Given the description of an element on the screen output the (x, y) to click on. 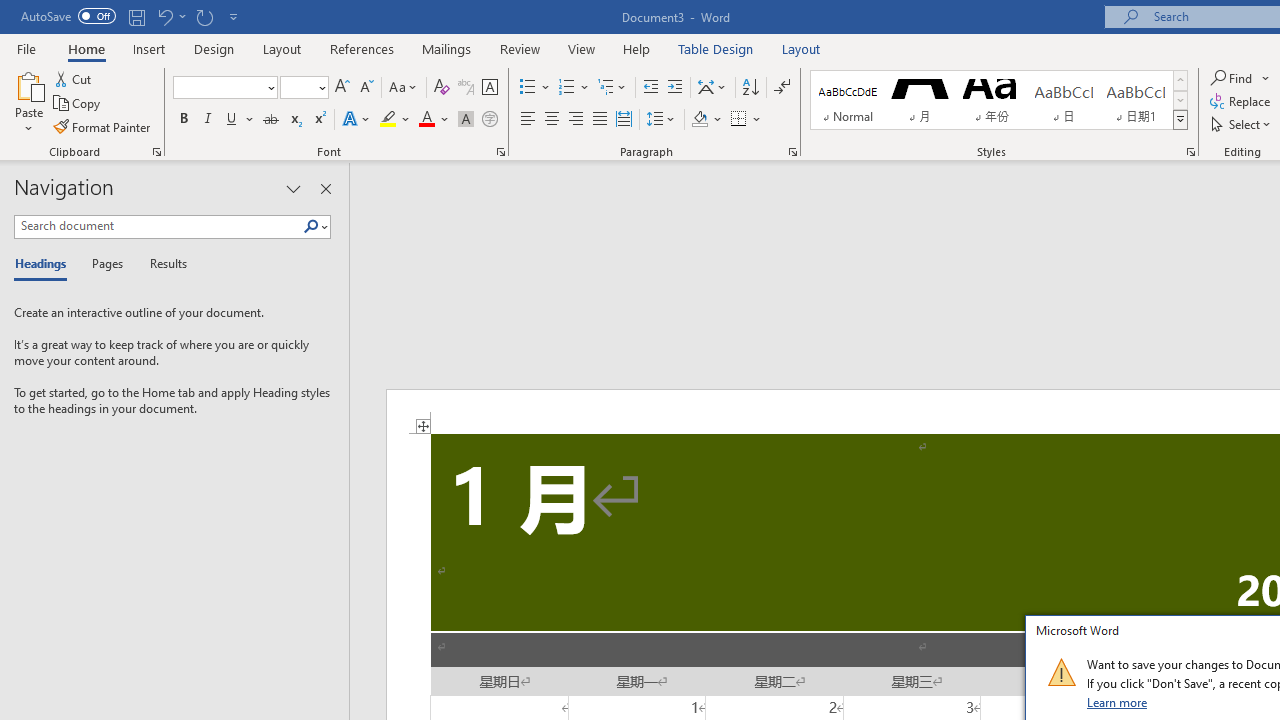
Sort... (750, 87)
Superscript (319, 119)
Italic (207, 119)
Strikethrough (270, 119)
AutomationID: QuickStylesGallery (999, 99)
Repeat Shrink Font (204, 15)
Table Design (715, 48)
